Given the description of an element on the screen output the (x, y) to click on. 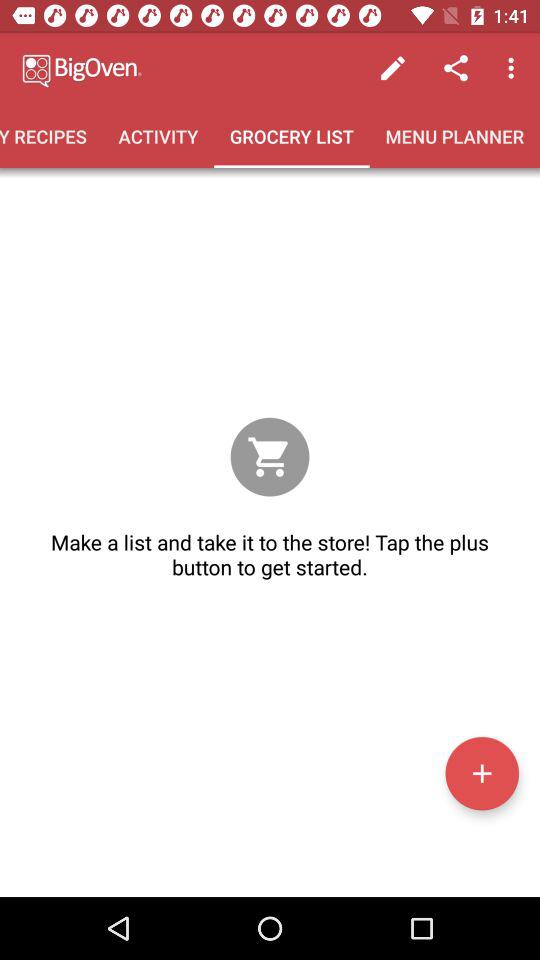
add to list (482, 773)
